Given the description of an element on the screen output the (x, y) to click on. 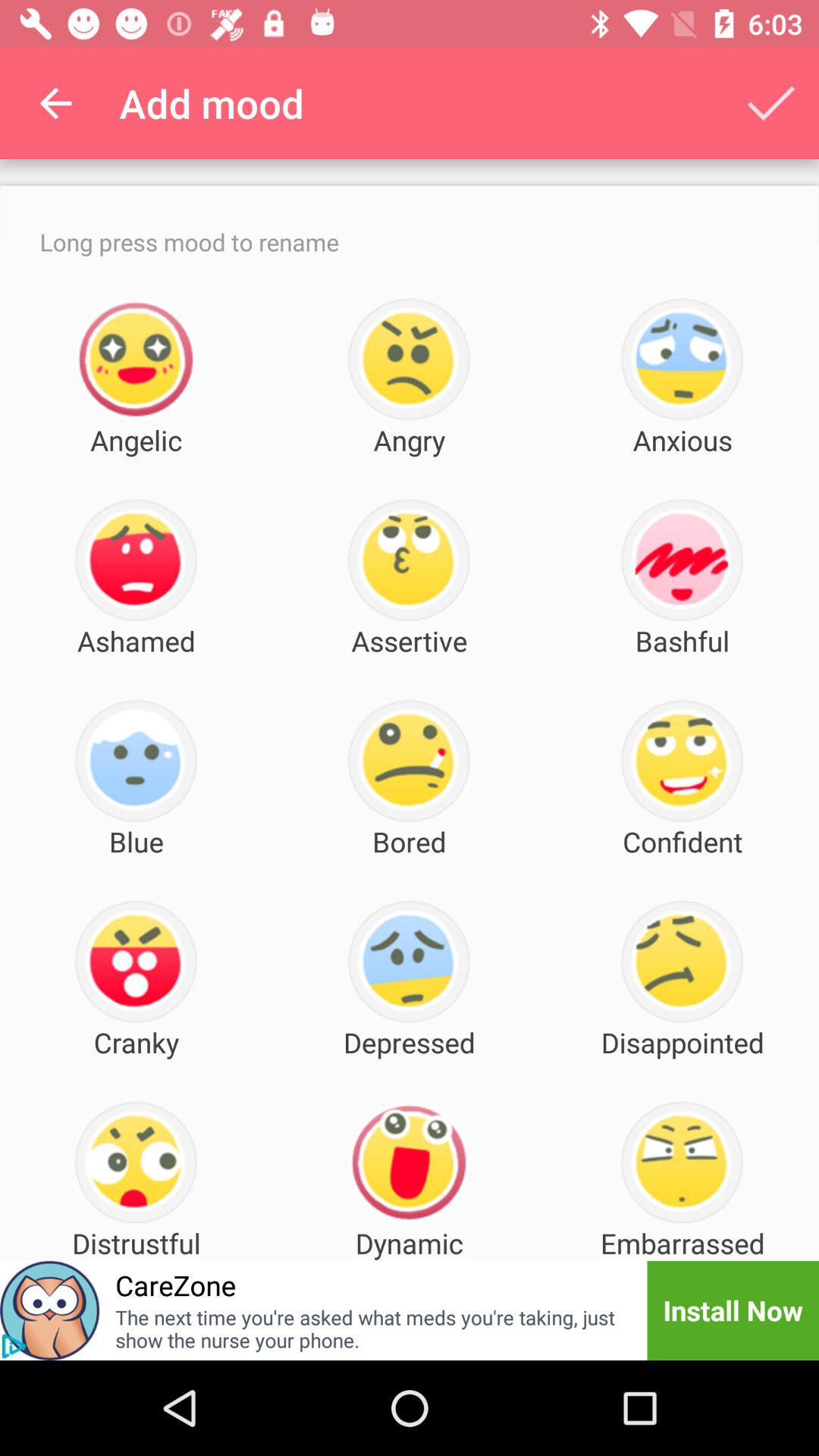
launch the icon to the left of add mood (55, 103)
